Given the description of an element on the screen output the (x, y) to click on. 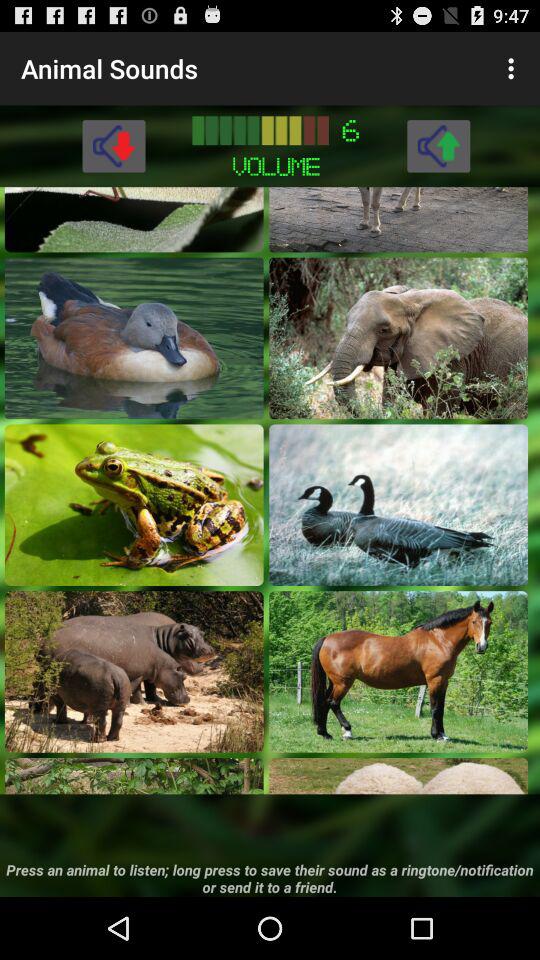
turn off the app above press an animal (133, 775)
